Given the description of an element on the screen output the (x, y) to click on. 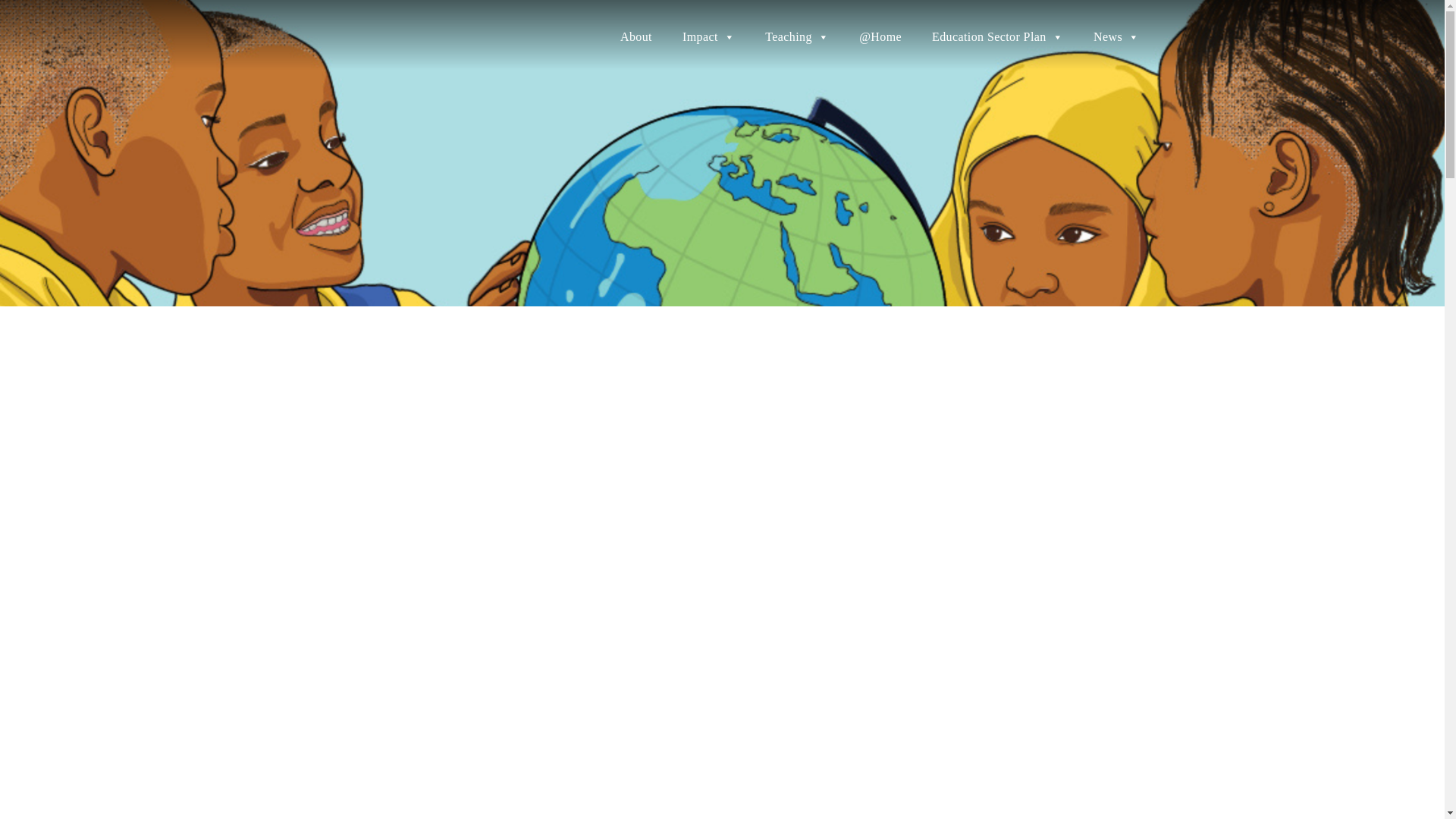
News (1116, 37)
Impact (707, 37)
About (635, 37)
Education Sector Plan (997, 37)
Teaching (796, 37)
